Given the description of an element on the screen output the (x, y) to click on. 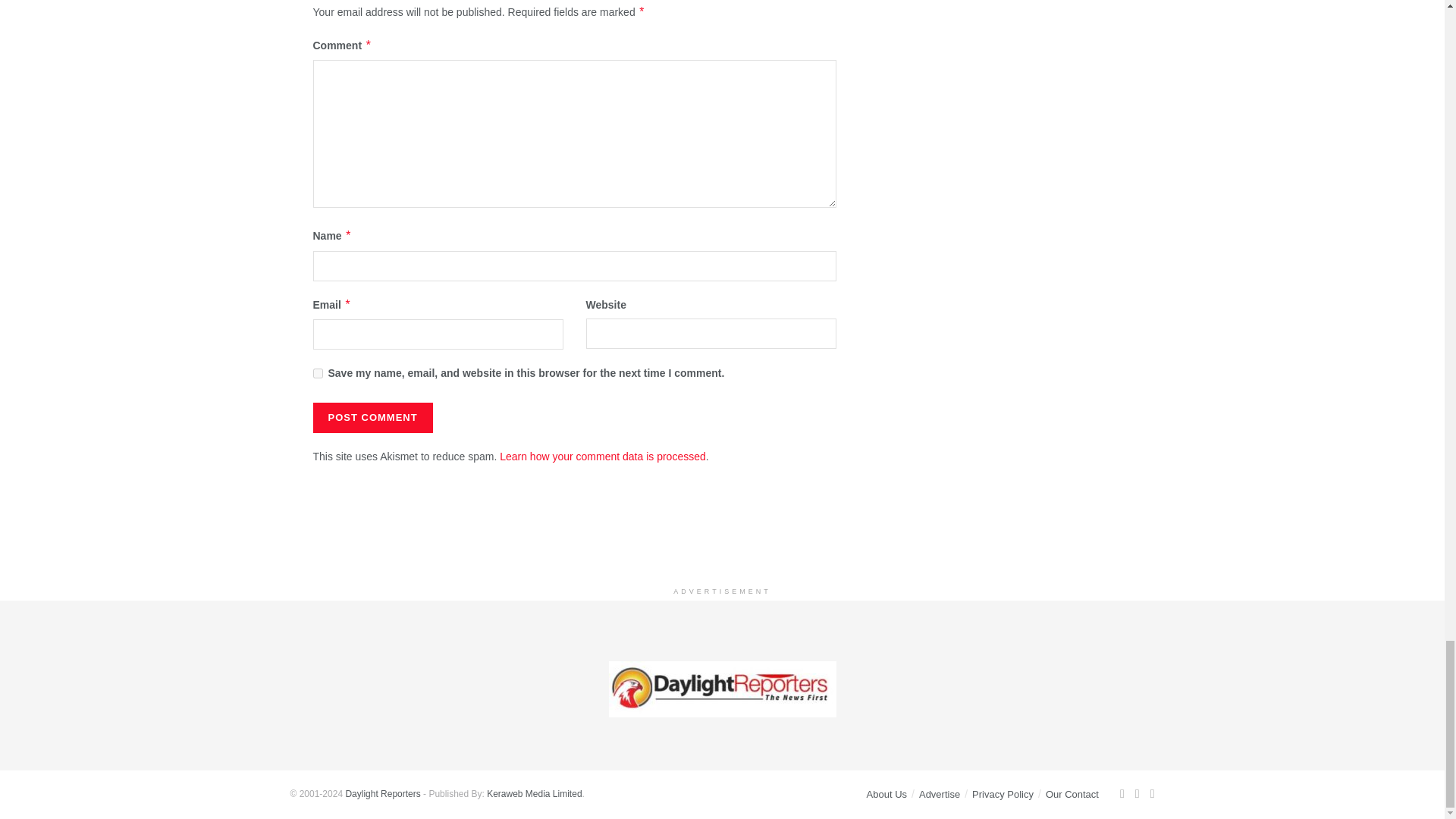
Post Comment (372, 417)
yes (317, 373)
